Given the description of an element on the screen output the (x, y) to click on. 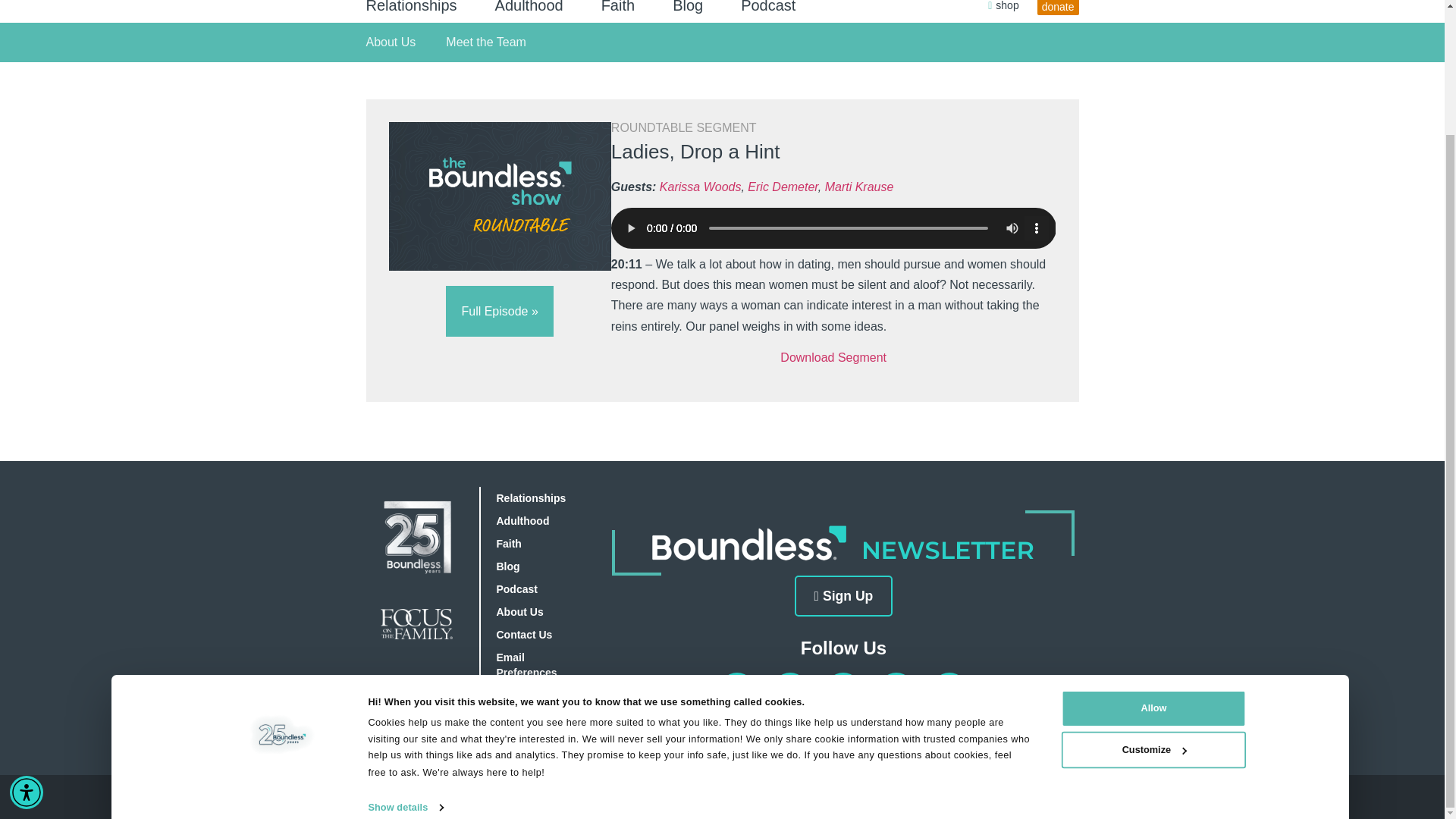
Download Segment (833, 357)
Accessibility Menu (26, 642)
Show details (412, 658)
